Given the description of an element on the screen output the (x, y) to click on. 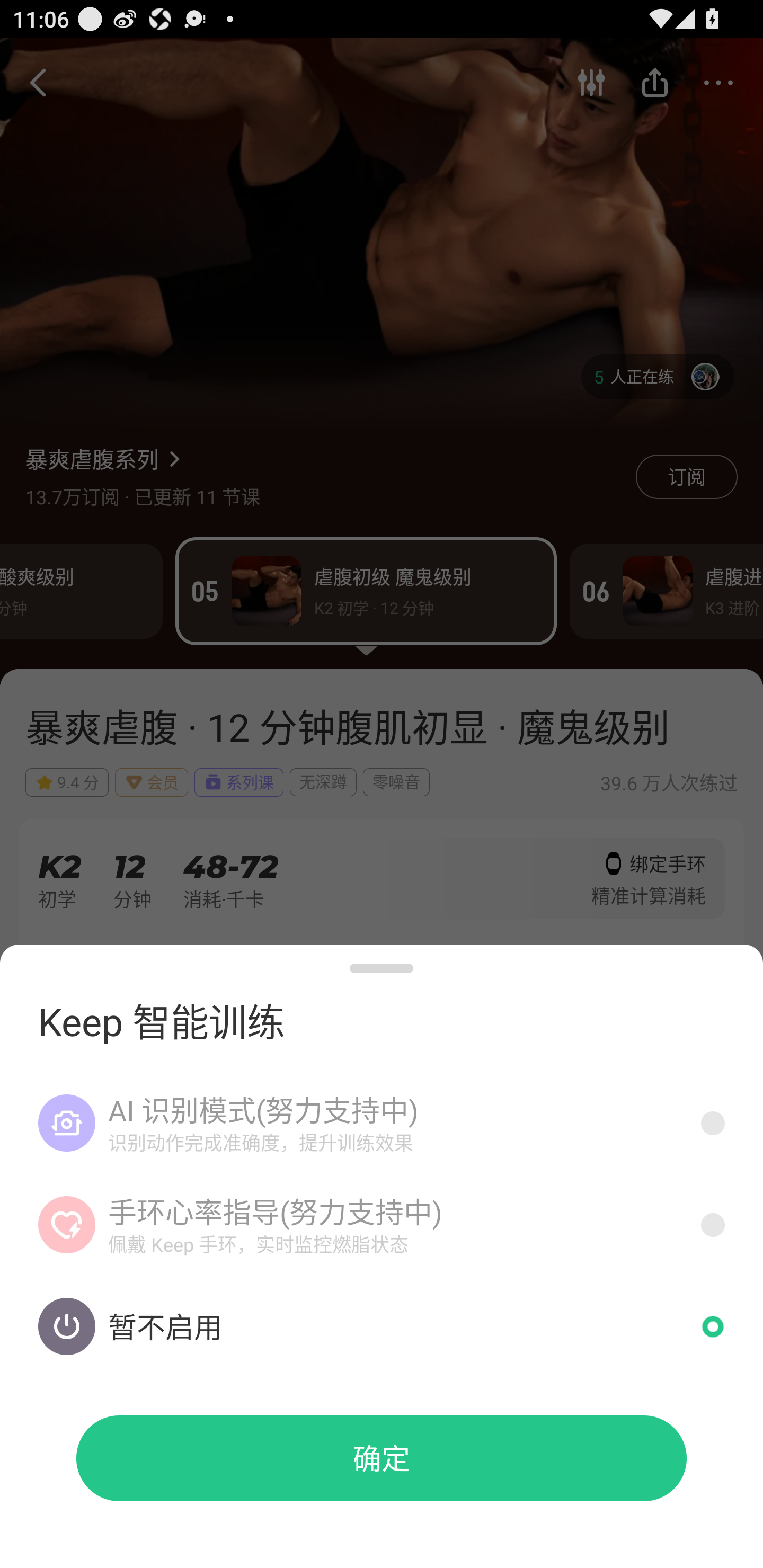
AI 识别模式(努力支持中) 识别动作完成准确度，提升训练效果 (381, 1123)
手环心率指导(努力支持中) 佩戴 Keep 手环，实时监控燃脂状态 (381, 1225)
暂不启用 (381, 1326)
确定 (381, 1457)
